Given the description of an element on the screen output the (x, y) to click on. 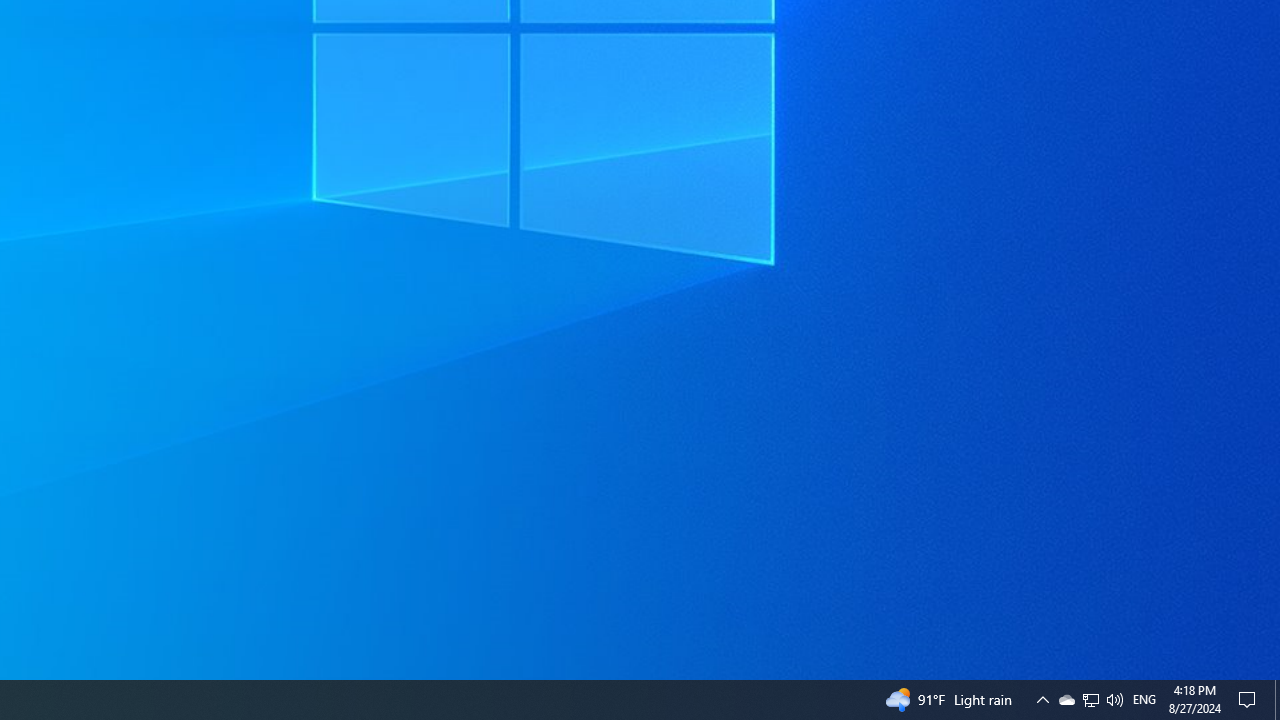
User Promoted Notification Area (1090, 699)
Q2790: 100% (1066, 699)
Show desktop (1114, 699)
Tray Input Indicator - English (United States) (1277, 699)
Notification Chevron (1144, 699)
Action Center, No new notifications (1042, 699)
